Given the description of an element on the screen output the (x, y) to click on. 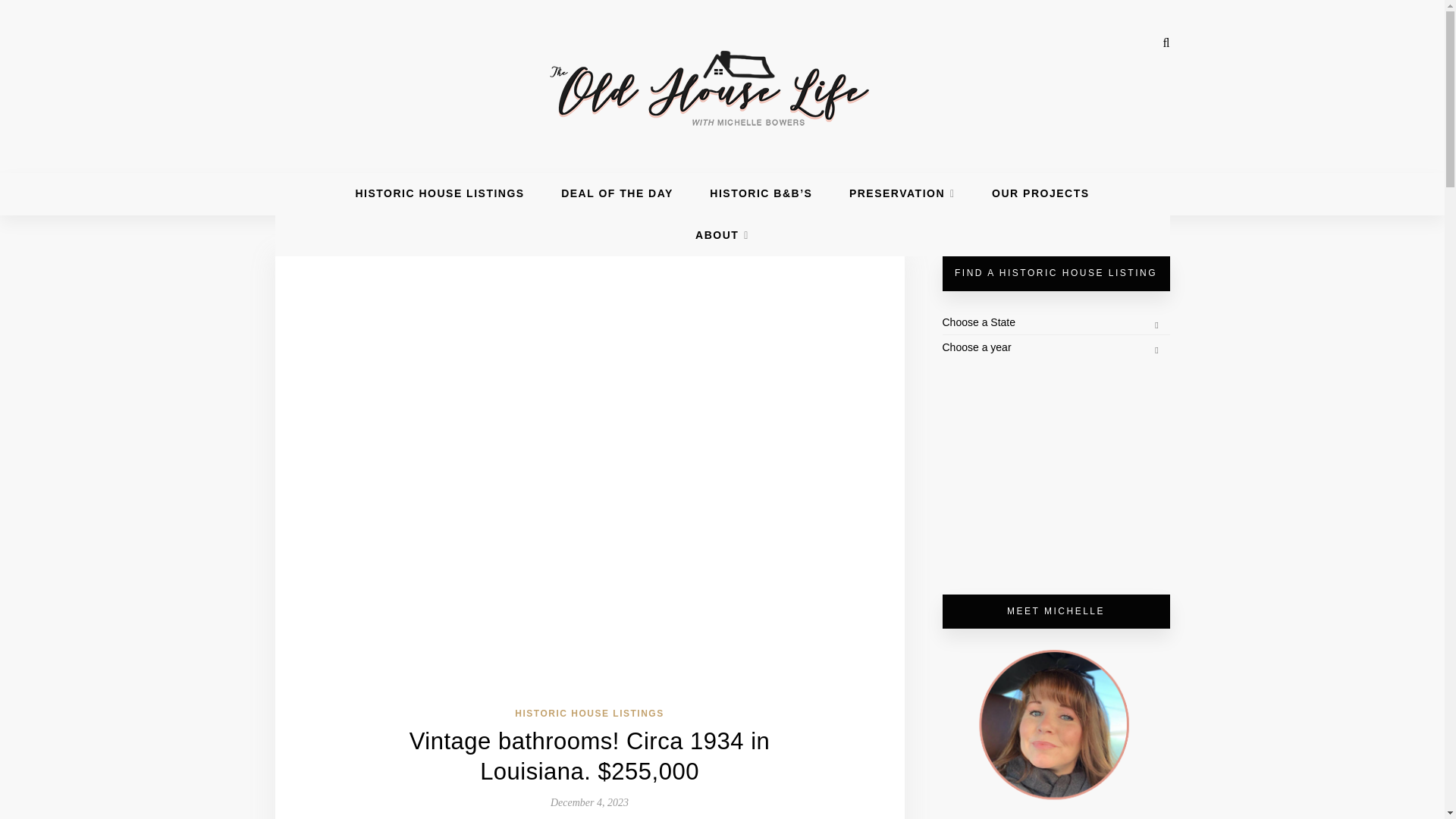
PRESERVATION (901, 193)
DEAL OF THE DAY (616, 192)
OUR PROJECTS (1040, 192)
HISTORIC HOUSE LISTINGS (589, 713)
ABOUT (722, 235)
HISTORIC HOUSE LISTINGS (439, 192)
December 4, 2023 (589, 802)
